Given the description of an element on the screen output the (x, y) to click on. 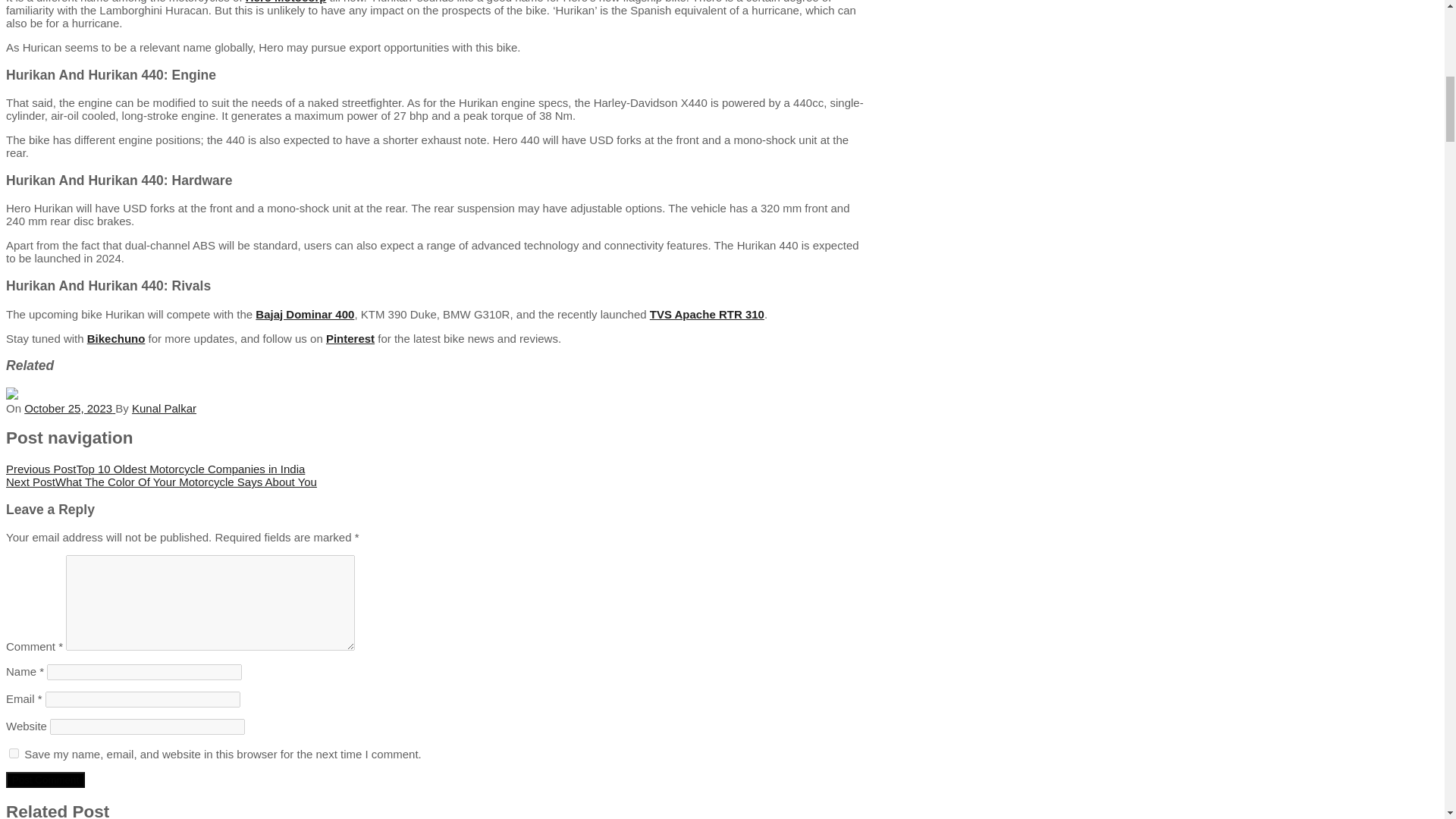
Previous PostTop 10 Oldest Motorcycle Companies in India (154, 468)
Pinterest (350, 338)
TVS Apache RTR 310 (706, 314)
Next PostWhat The Color Of Your Motorcycle Says About You (161, 481)
Post Comment (44, 779)
Post Comment (44, 779)
October 25, 2023 (69, 408)
Bajaj Dominar 400 (304, 314)
yes (13, 753)
Hero Motocorp (286, 2)
